Given the description of an element on the screen output the (x, y) to click on. 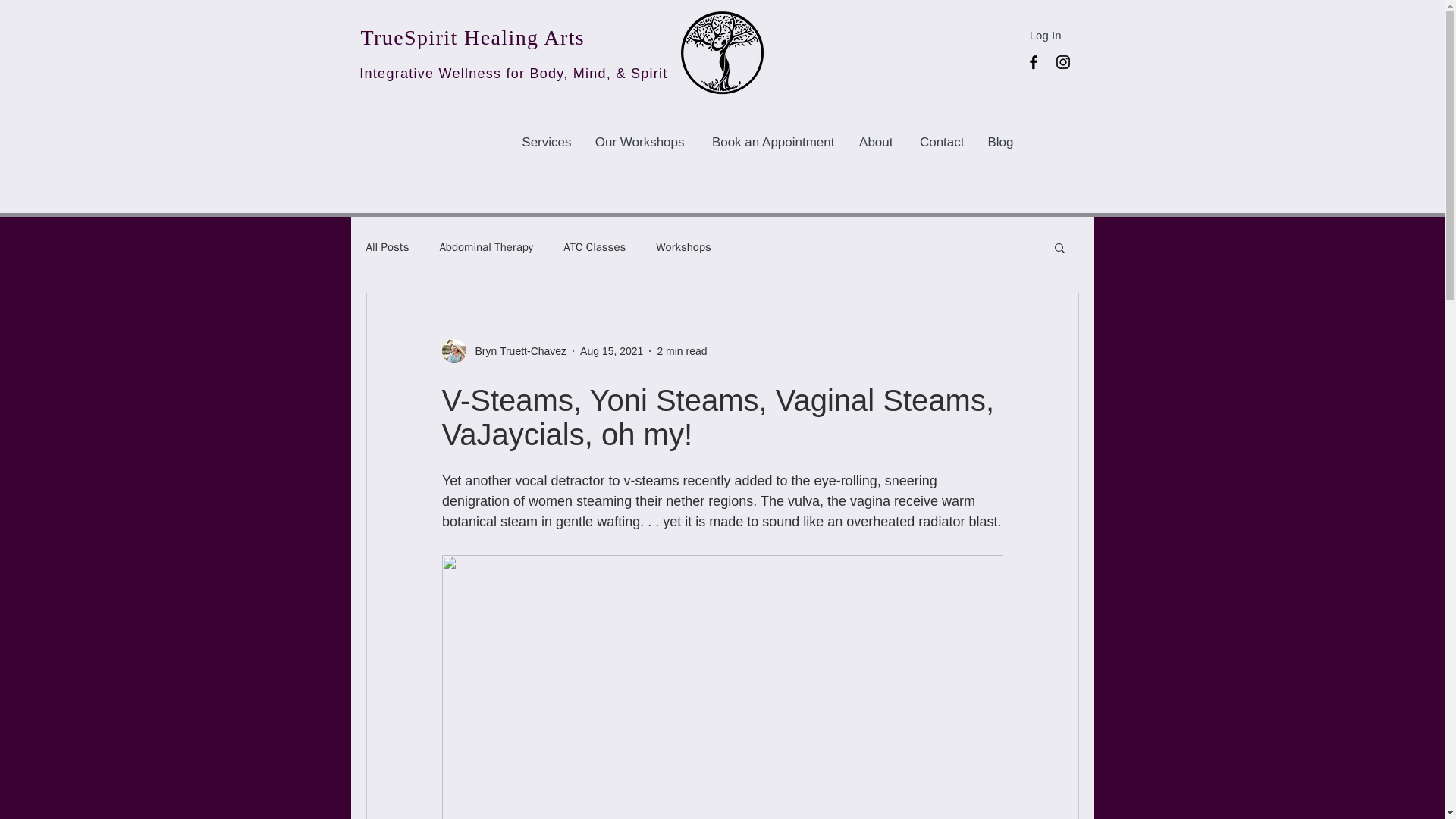
Bryn Truett-Chavez (503, 351)
Blog (1000, 142)
 Bryn Truett-Chavez (515, 350)
Log In (1045, 34)
ATC Classes (594, 246)
TrueSpirit Healing Arts (473, 37)
Contact (939, 142)
2 min read (681, 349)
About (874, 142)
All Posts (387, 246)
Book an Appointment (770, 142)
Aug 15, 2021 (611, 349)
Our Workshops (638, 142)
Abdominal Therapy (485, 246)
Workshops (683, 246)
